Given the description of an element on the screen output the (x, y) to click on. 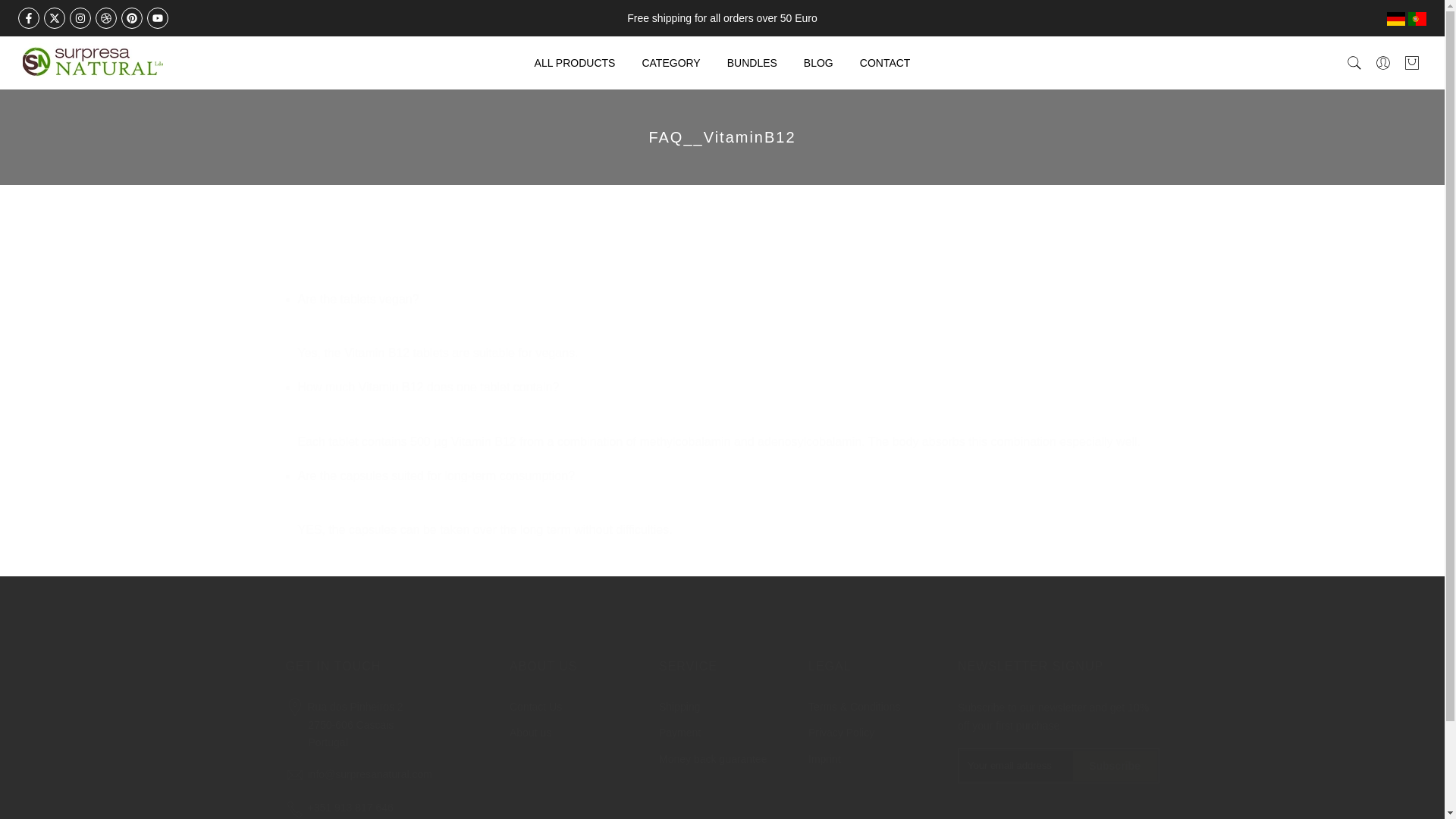
Subscribe (1113, 766)
Follow on Dribbble (106, 17)
Follow on Pinterest (131, 17)
Follow on YouTube (157, 17)
Follow on Instagram (79, 17)
ALL PRODUCTS (574, 63)
CONTACT (884, 63)
Follow on Twitter (54, 17)
Shipping (679, 706)
Privacy Policy (841, 732)
